Given the description of an element on the screen output the (x, y) to click on. 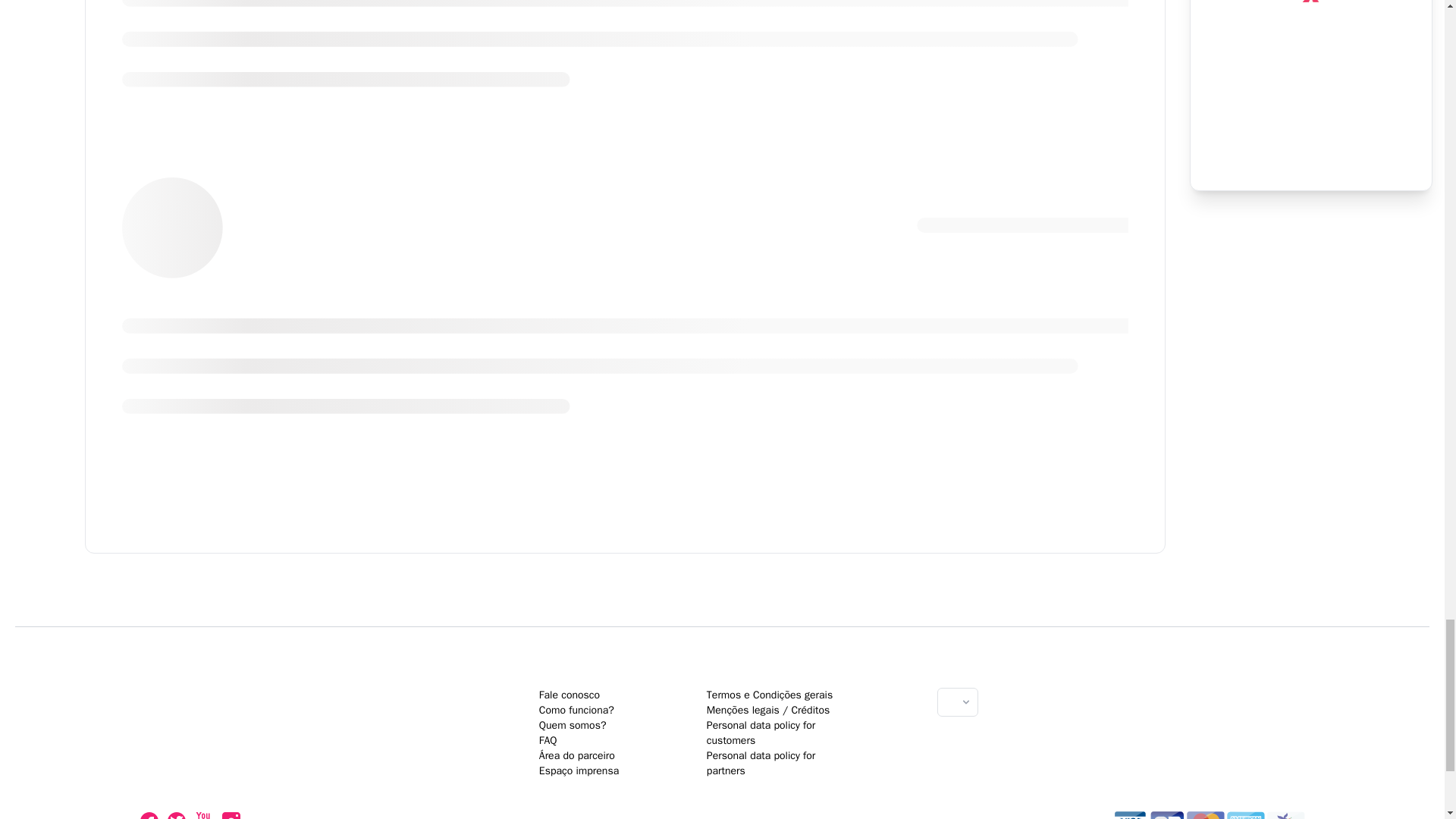
Quem somos? (721, 798)
FAQ (572, 725)
Fale conosco (547, 739)
Como funciona? (568, 694)
